Given the description of an element on the screen output the (x, y) to click on. 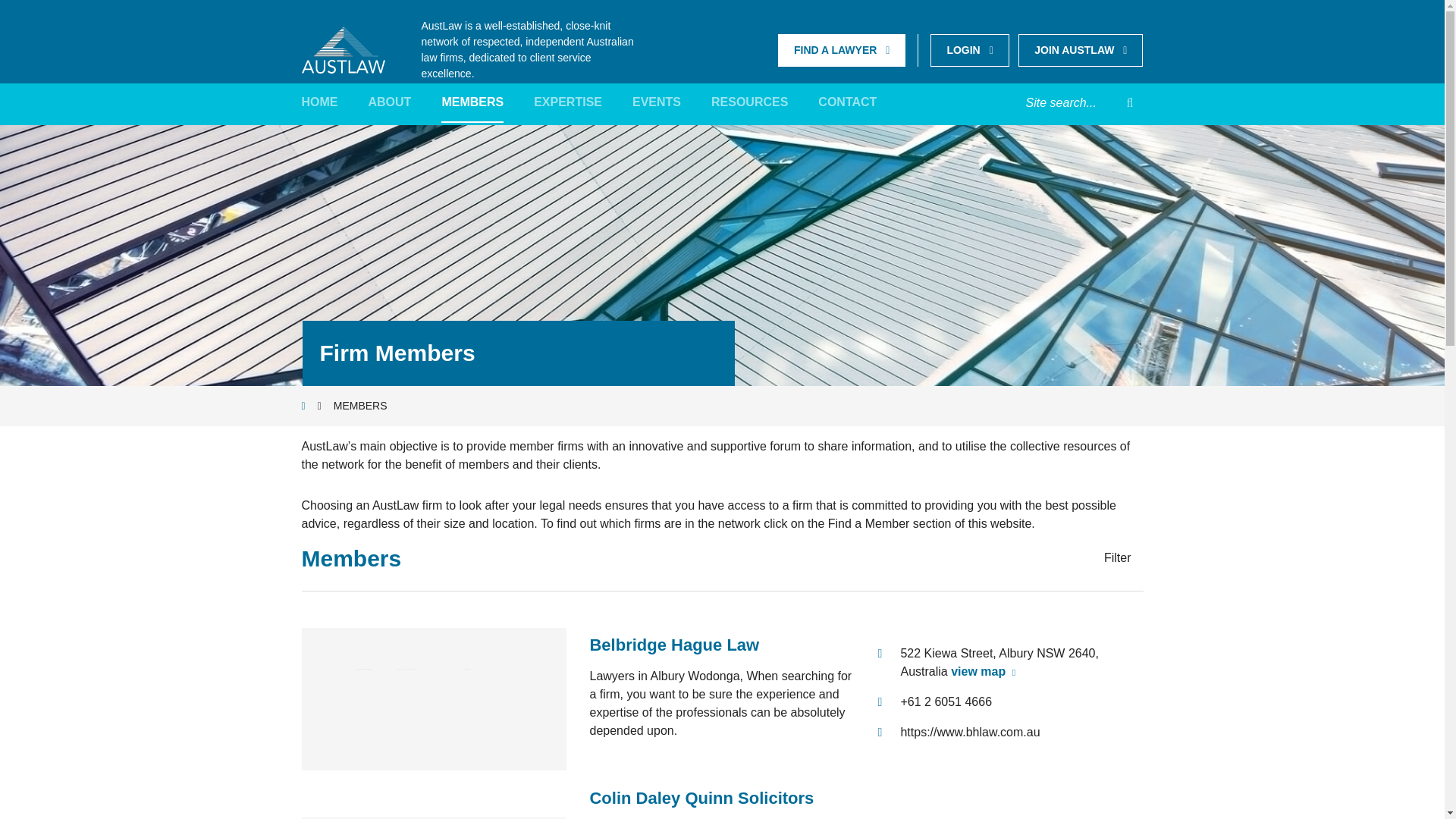
JOIN AUSTLAW (1079, 49)
EVENTS (656, 102)
Belbridge Hague Law (673, 644)
LOGIN (969, 49)
Go back to homepage (343, 49)
Search (1129, 102)
CONTACT (847, 102)
EXPERTISE (568, 102)
MEMBERS (472, 102)
RESOURCES (749, 102)
